Given the description of an element on the screen output the (x, y) to click on. 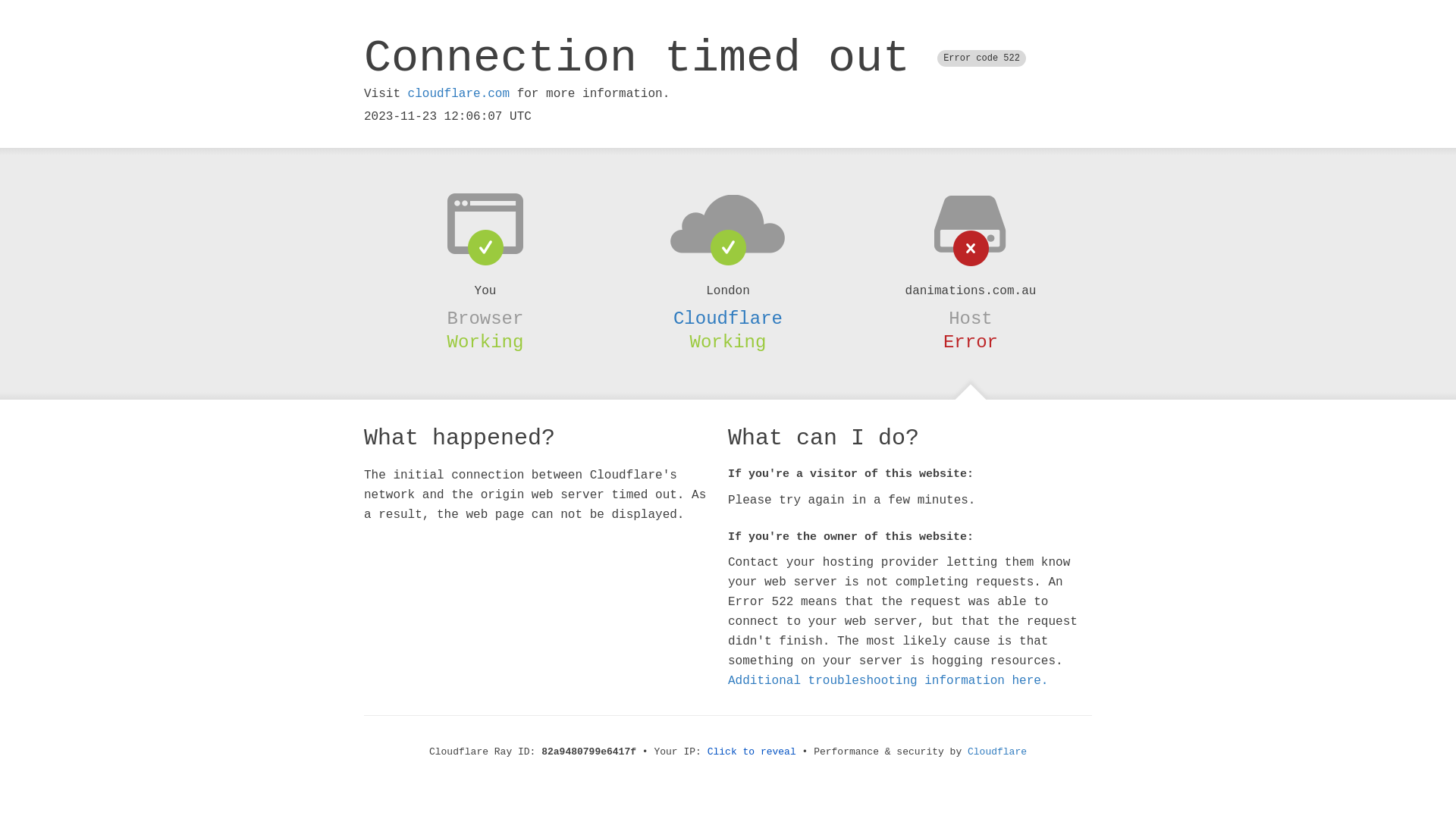
Cloudflare Element type: text (727, 318)
Click to reveal Element type: text (751, 751)
cloudflare.com Element type: text (458, 93)
Cloudflare Element type: text (996, 751)
Additional troubleshooting information here. Element type: text (888, 680)
